Given the description of an element on the screen output the (x, y) to click on. 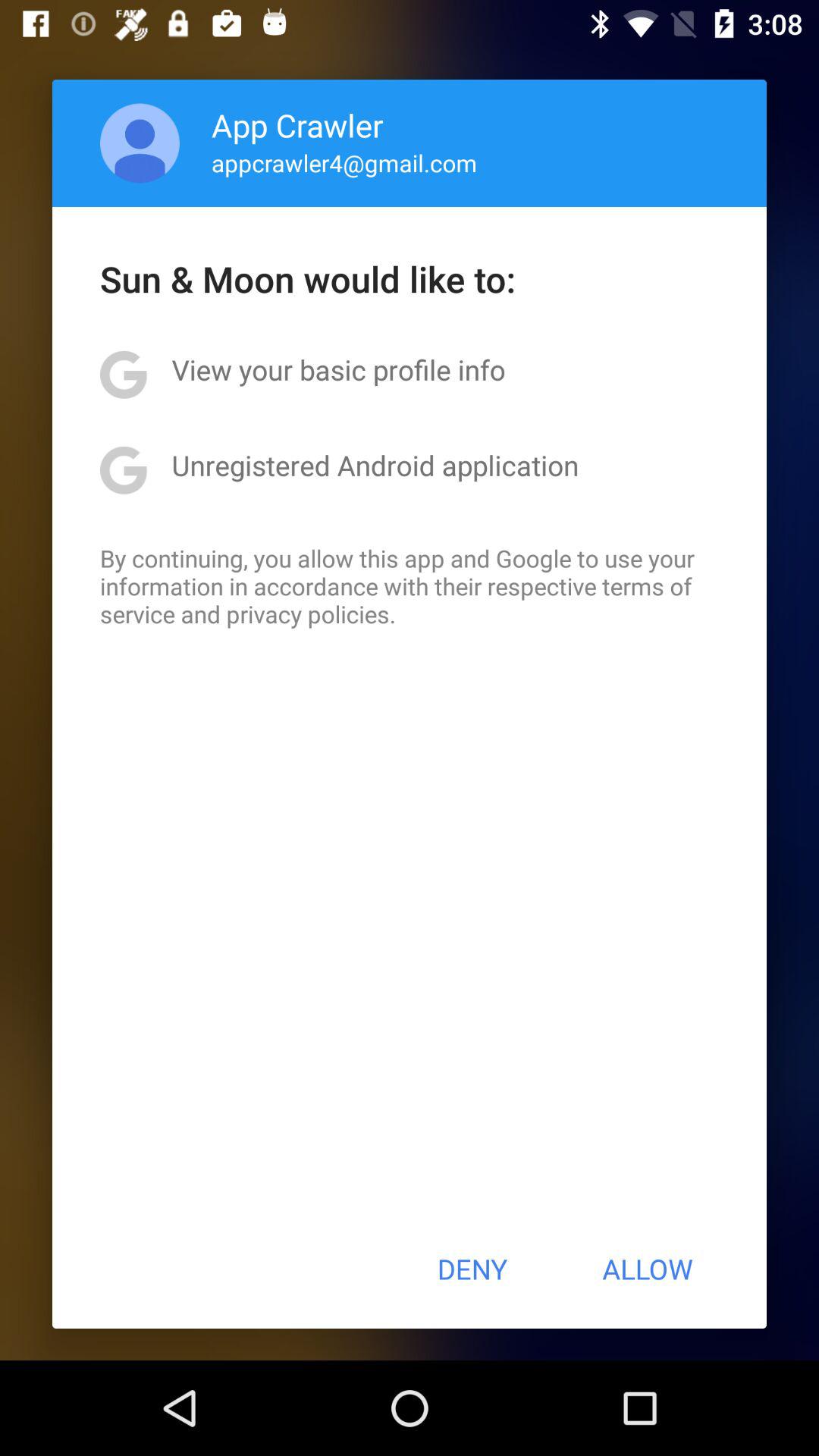
click the view your basic (338, 369)
